Given the description of an element on the screen output the (x, y) to click on. 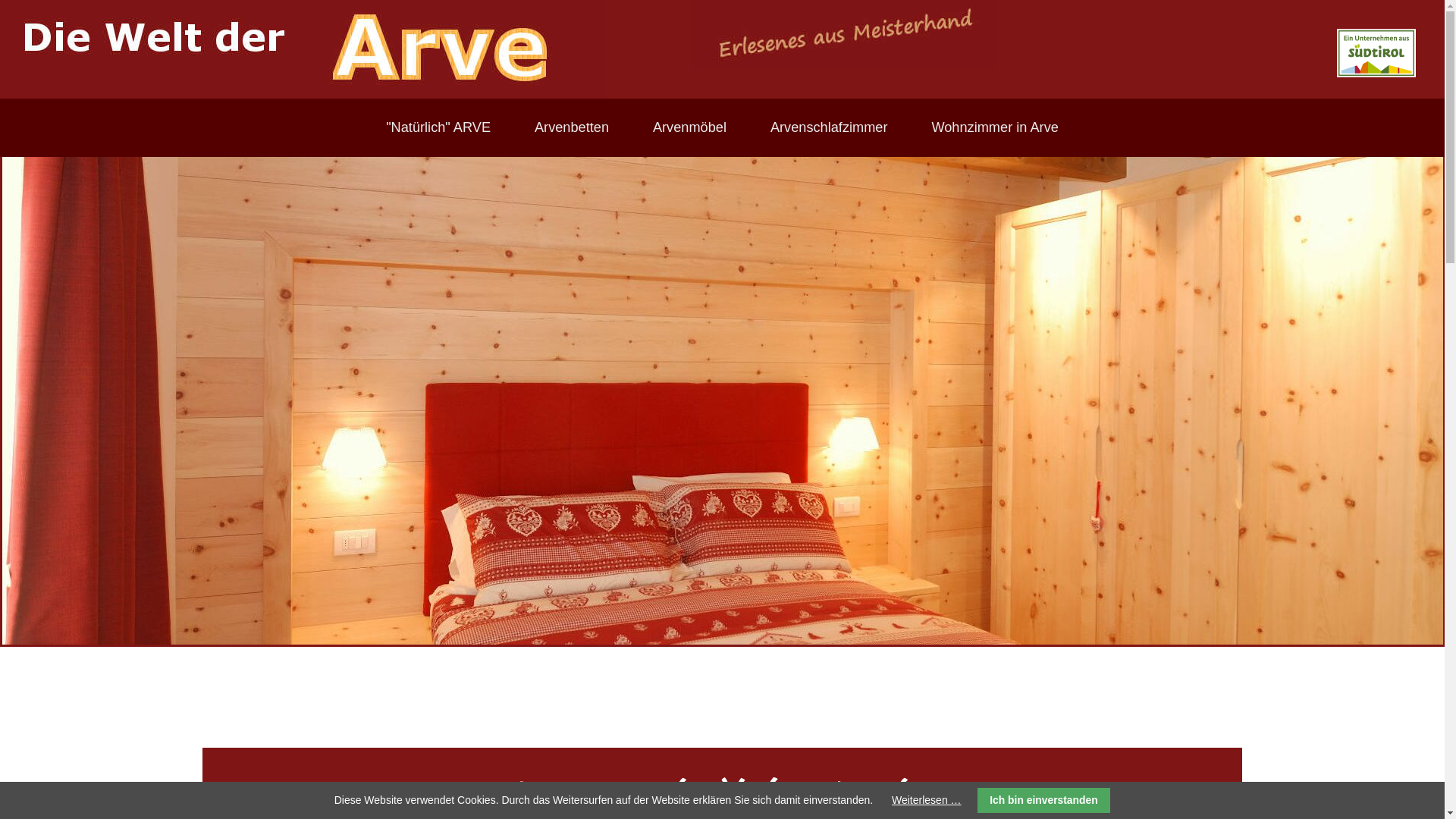
Ich bin einverstanden Element type: text (1043, 799)
Arvenschlafzimmer Element type: text (829, 127)
Wohnzimmer in Arve Element type: text (994, 127)
Arvenschlafzimmer Element type: text (166, 170)
Wohnzimmer in Arve Element type: text (166, 208)
Arvenbetten Element type: text (166, 94)
Arvenzimmer eingebaut Element type: hover (721, 400)
Arvenbetten Element type: text (571, 127)
